Given the description of an element on the screen output the (x, y) to click on. 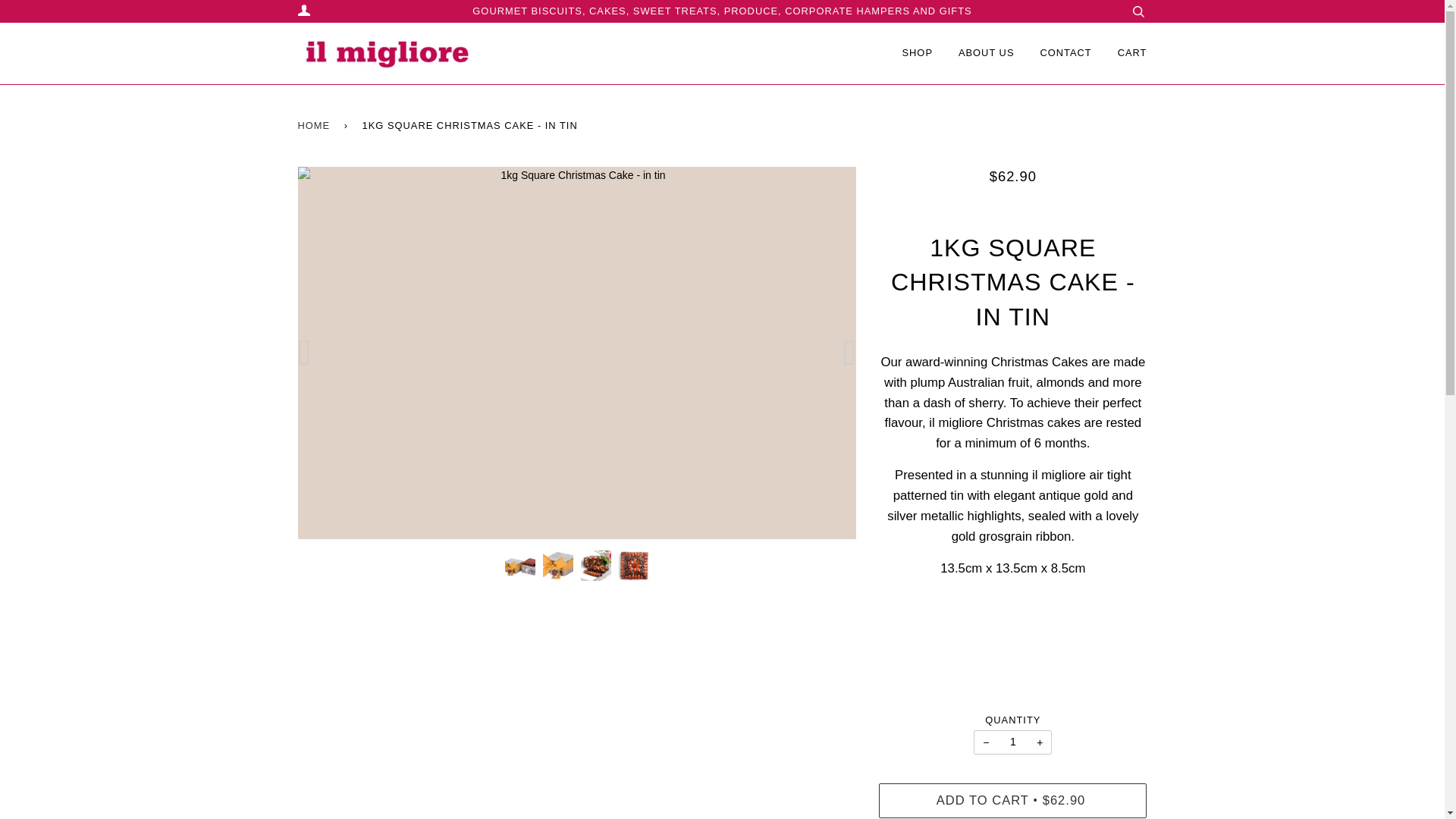
HOME (315, 125)
1 (1012, 742)
ABOUT US (986, 53)
Back to the frontpage (315, 125)
